Given the description of an element on the screen output the (x, y) to click on. 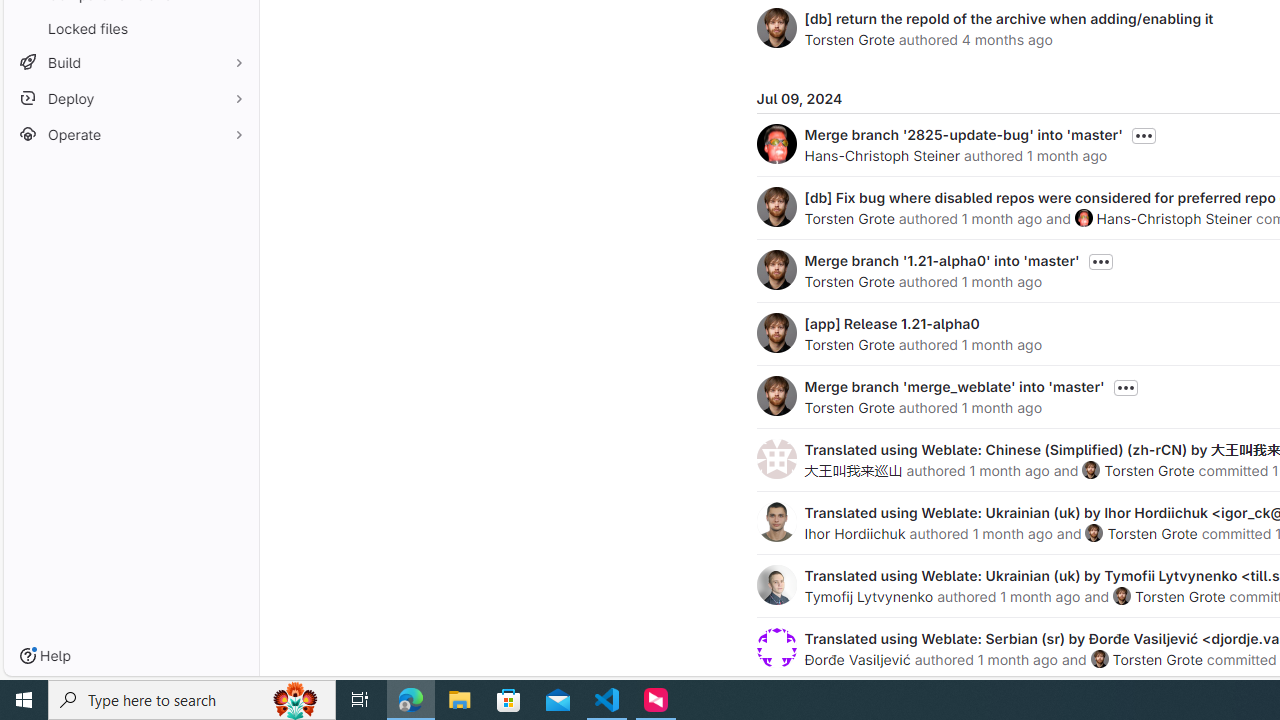
Pin Locked files (234, 28)
Ihor Hordiichuk's avatar (776, 521)
Toggle commit description (1125, 388)
Operate (130, 134)
Merge branch '2825-update-bug' into 'master' (962, 134)
Ihor Hordiichuk's avatar (776, 521)
Build (130, 62)
Ihor Hordiichuk (854, 533)
Tymofij Lytvynenko (868, 596)
Class: s16 gl-icon gl-button-icon  (1125, 388)
Merge branch 'merge_weblate' into 'master' (953, 386)
Deploy (130, 98)
